Given the description of an element on the screen output the (x, y) to click on. 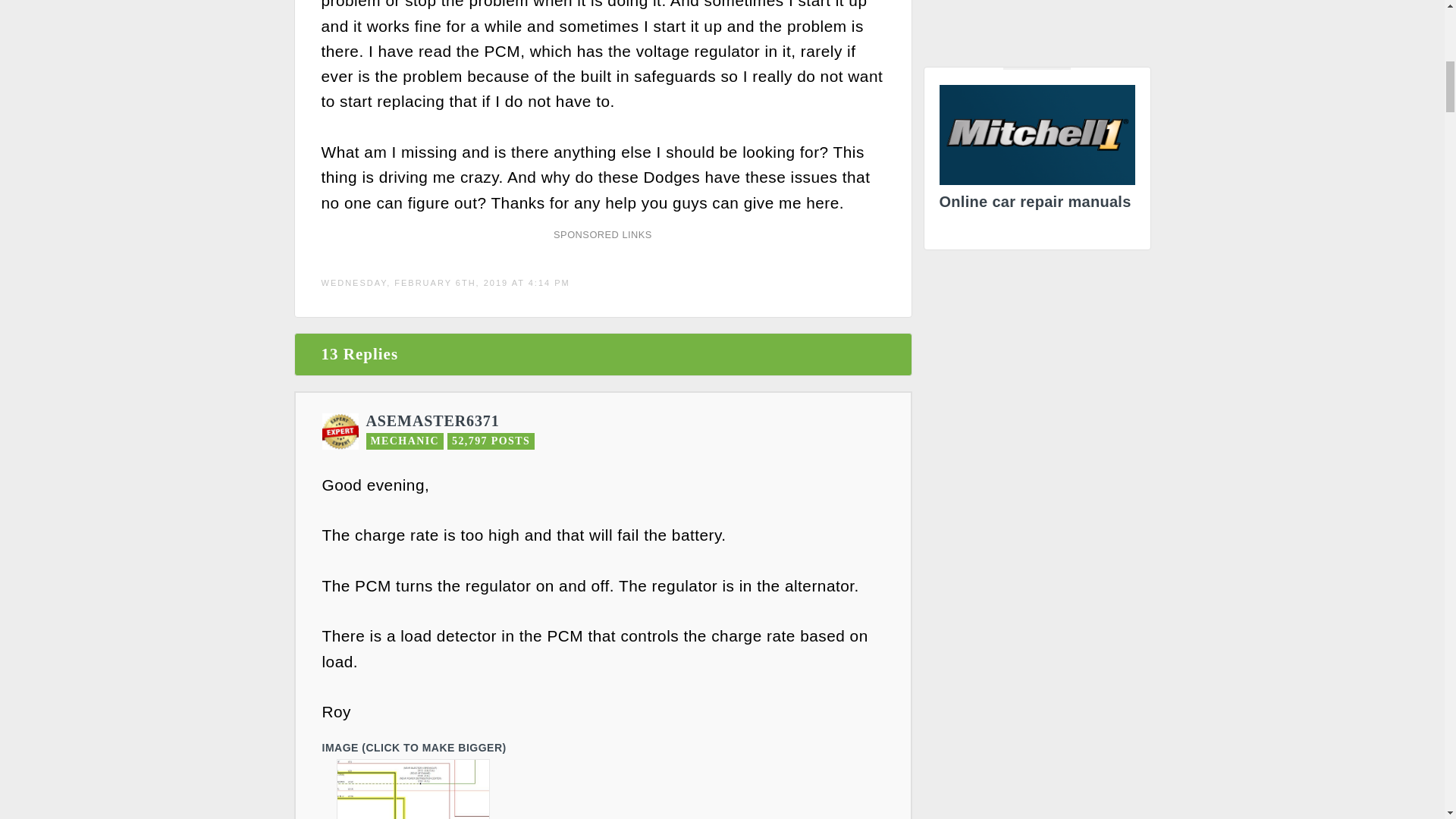
Advertisement (1037, 27)
Car Manual (1036, 152)
